Given the description of an element on the screen output the (x, y) to click on. 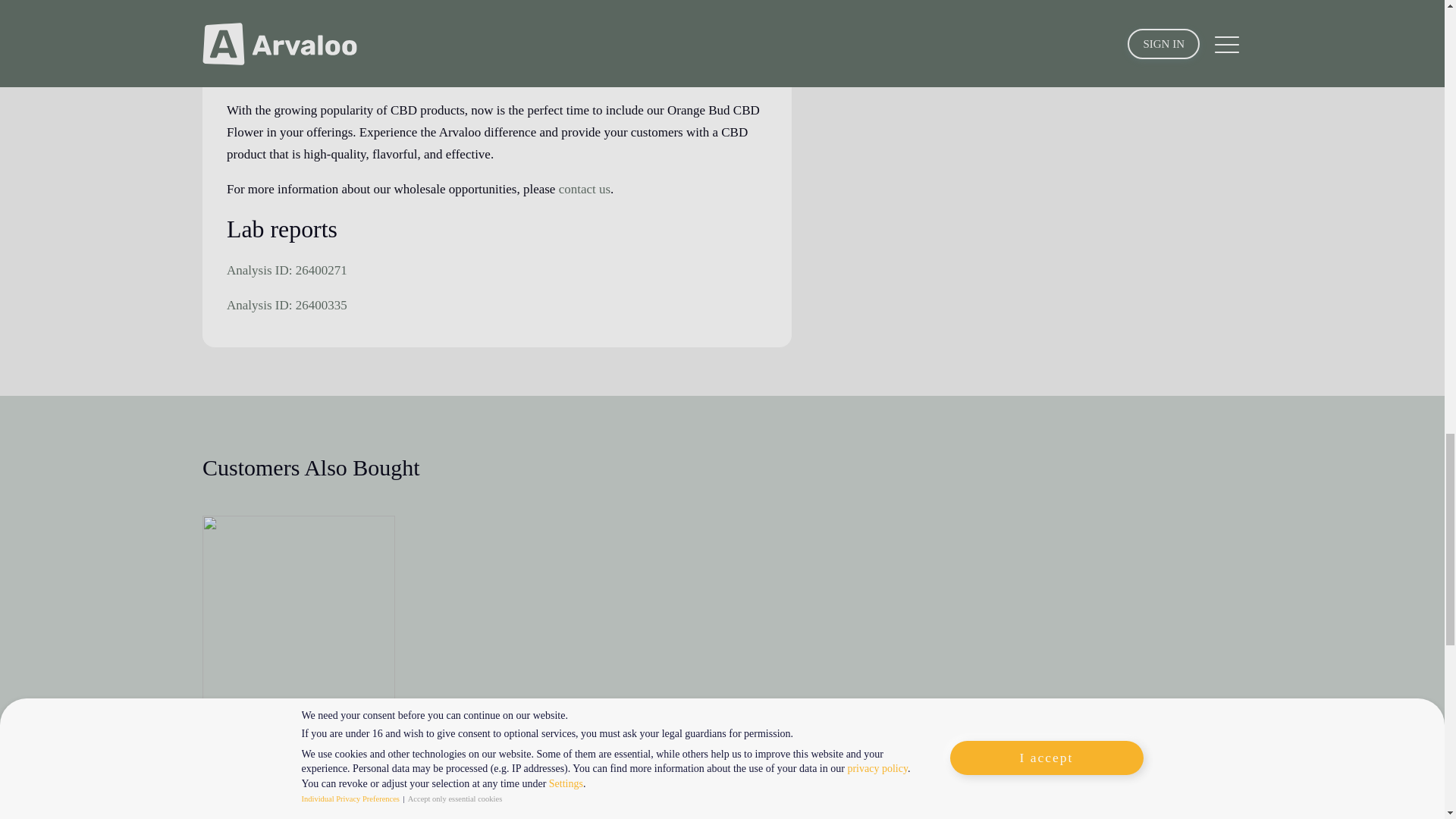
contact us (584, 188)
